Given the description of an element on the screen output the (x, y) to click on. 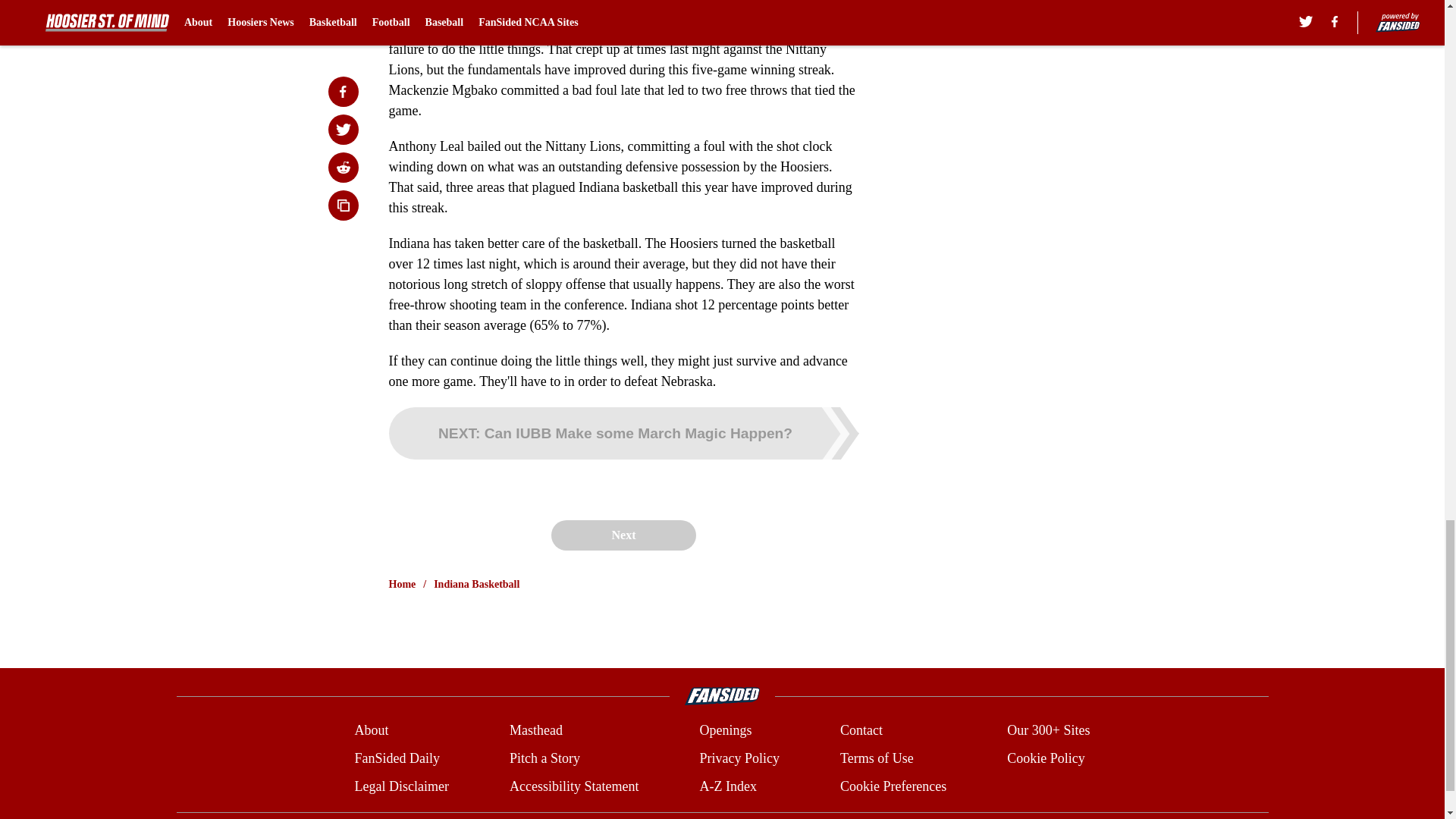
Indiana Basketball (476, 584)
Accessibility Statement (574, 786)
FanSided Daily (396, 758)
Next (622, 535)
Pitch a Story (544, 758)
Contact (861, 730)
About (370, 730)
Openings (724, 730)
Cookie Preferences (893, 786)
Legal Disclaimer (400, 786)
Cookie Policy (1045, 758)
Masthead (535, 730)
Terms of Use (877, 758)
Privacy Policy (738, 758)
A-Z Index (726, 786)
